Given the description of an element on the screen output the (x, y) to click on. 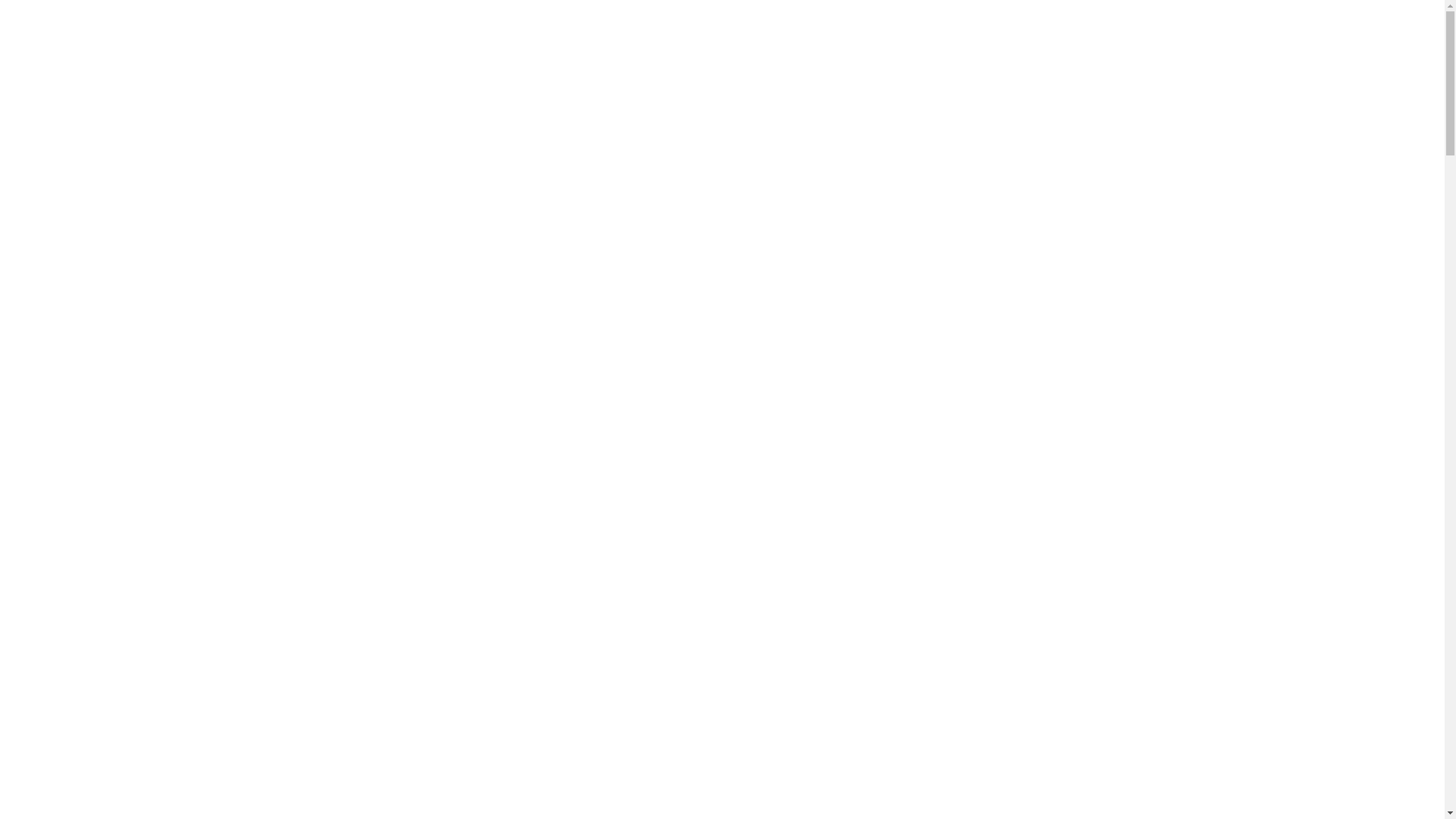
admin@mg.com.au Element type: text (394, 22)
